Given the description of an element on the screen output the (x, y) to click on. 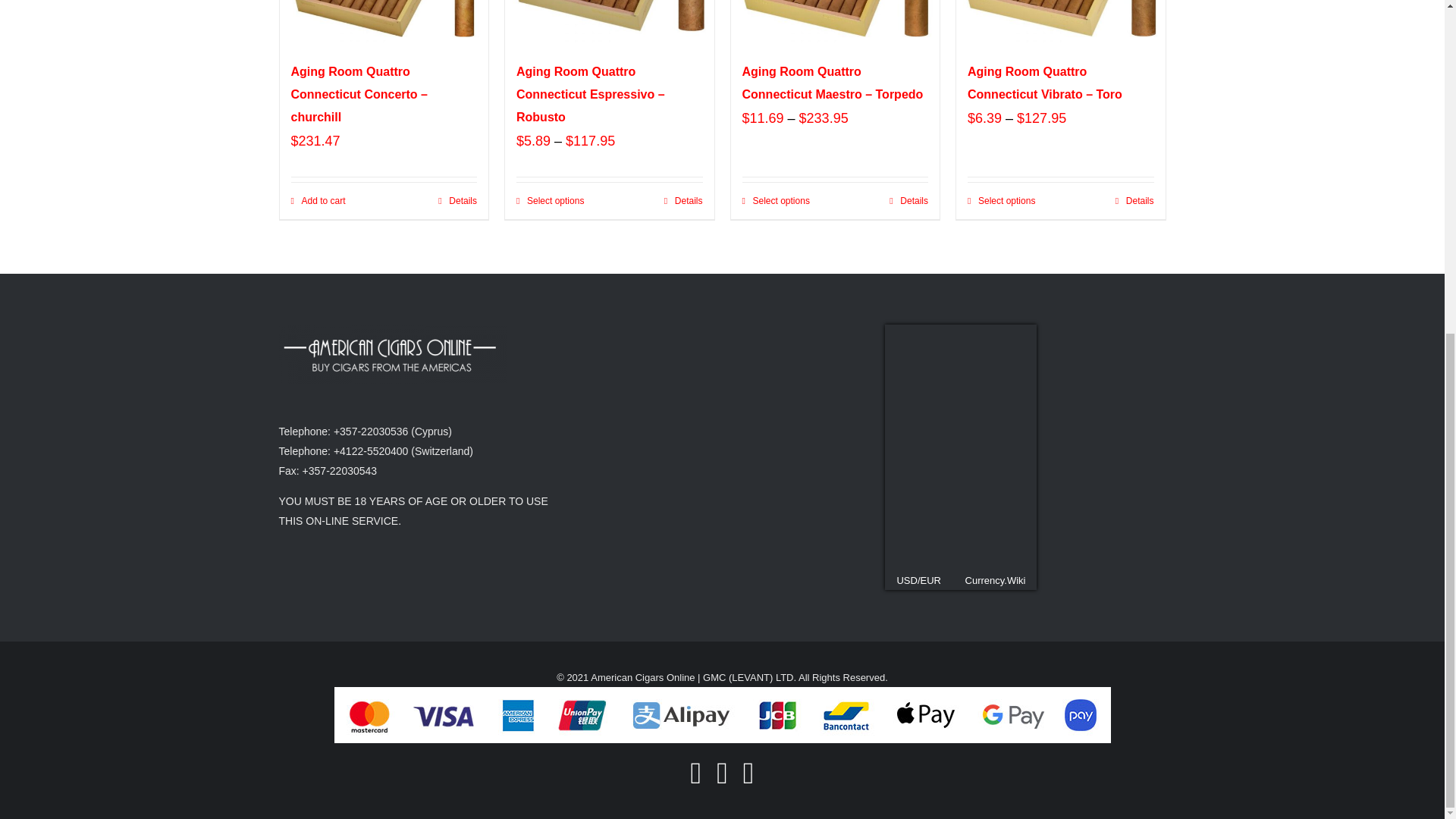
Details (683, 201)
Add to cart (318, 201)
Details (908, 201)
Select options (549, 201)
Select options (775, 201)
Details (457, 201)
